Given the description of an element on the screen output the (x, y) to click on. 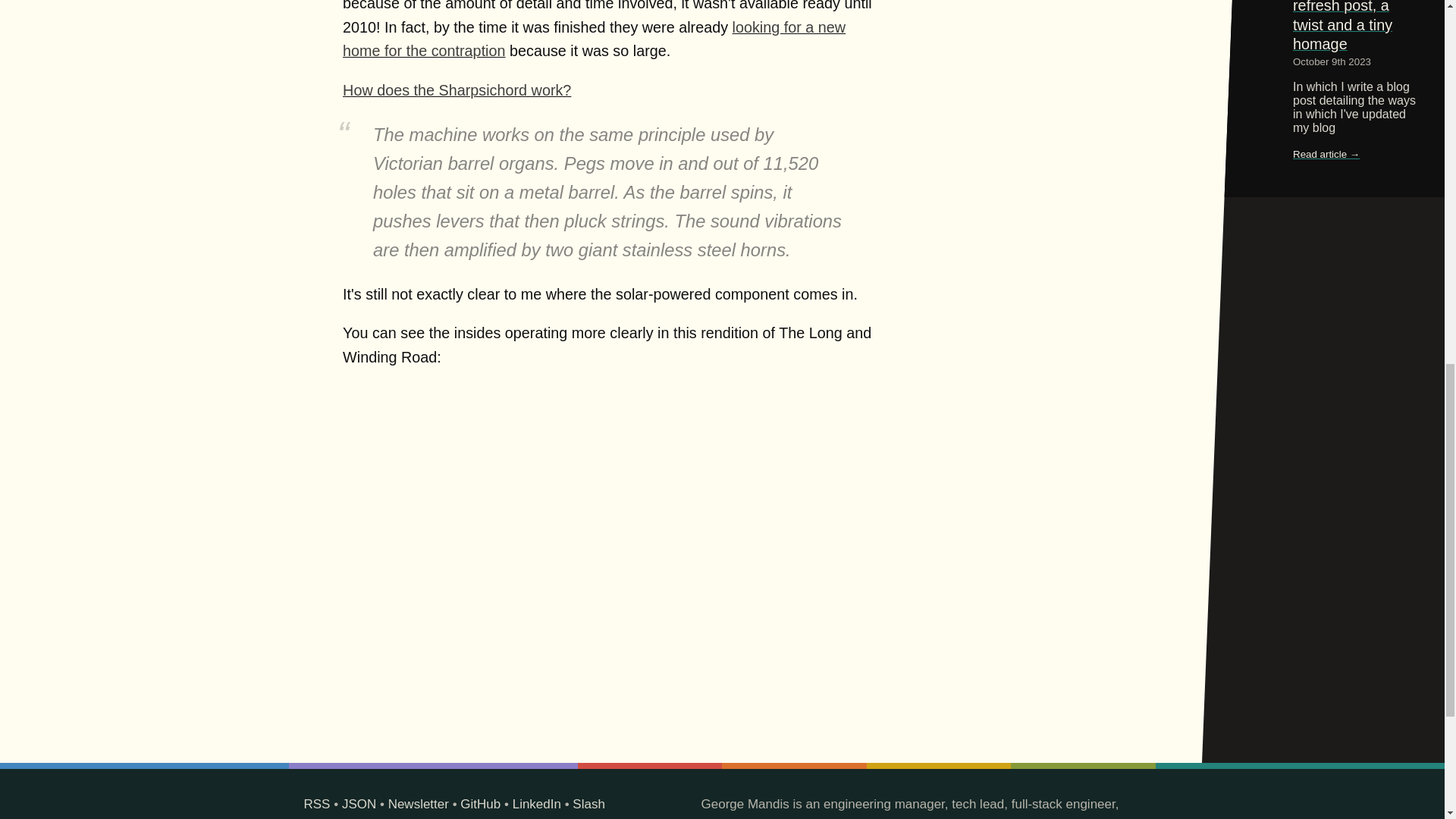
RSS (316, 803)
LinkedIn (536, 803)
Obligatory blog refresh post, a twist and a tiny homage (1342, 26)
GitHub (480, 803)
looking for a new home for the contraption (593, 38)
Newsletter (418, 803)
JSON (358, 803)
Slash (588, 803)
How does the Sharpsichord work? (456, 89)
